Given the description of an element on the screen output the (x, y) to click on. 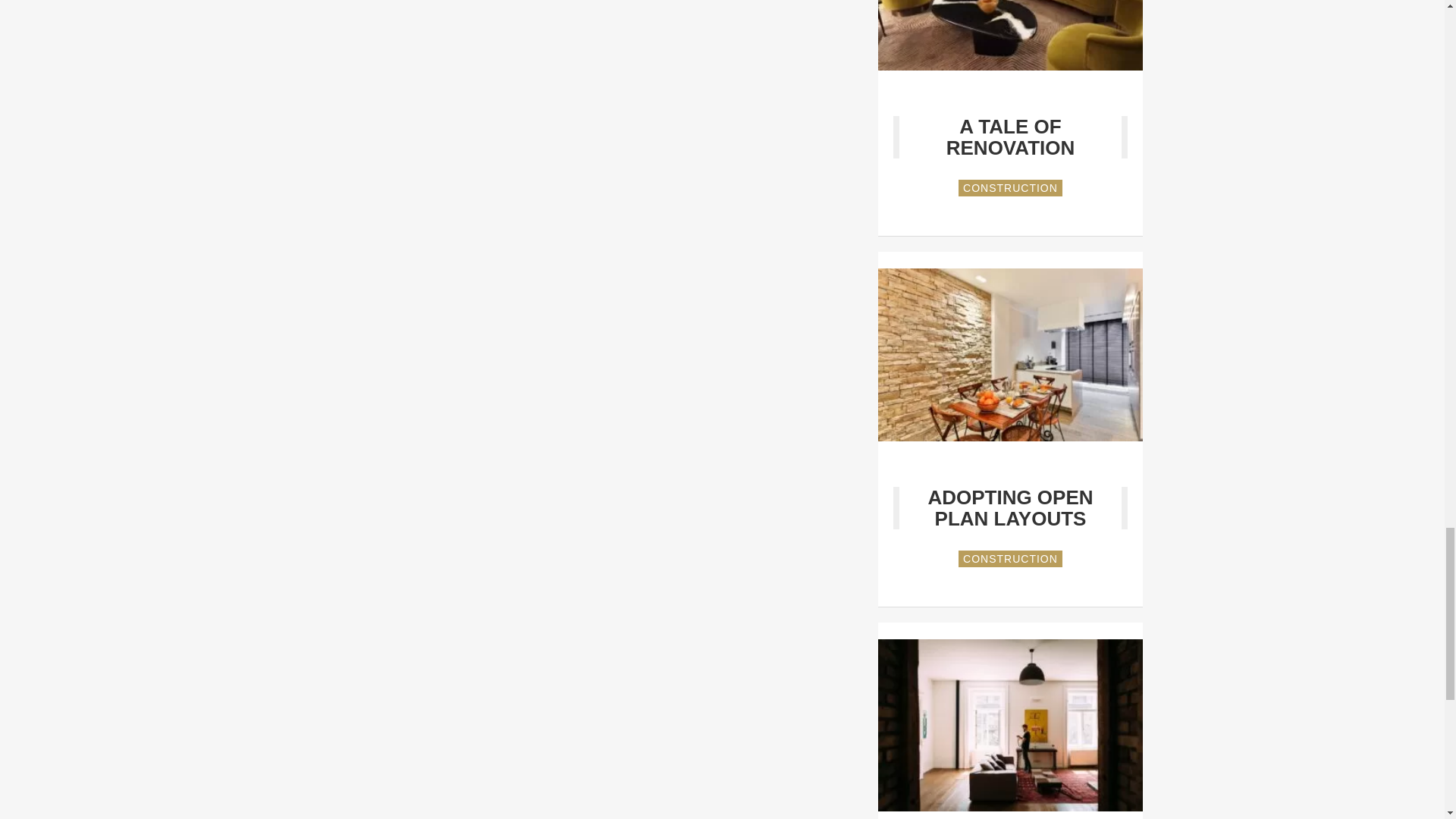
CONSTRUCTION (1010, 187)
CONSTRUCTION (1010, 558)
A TALE OF RENOVATION (1010, 136)
ADOPTING OPEN PLAN LAYOUTS (1010, 507)
